Given the description of an element on the screen output the (x, y) to click on. 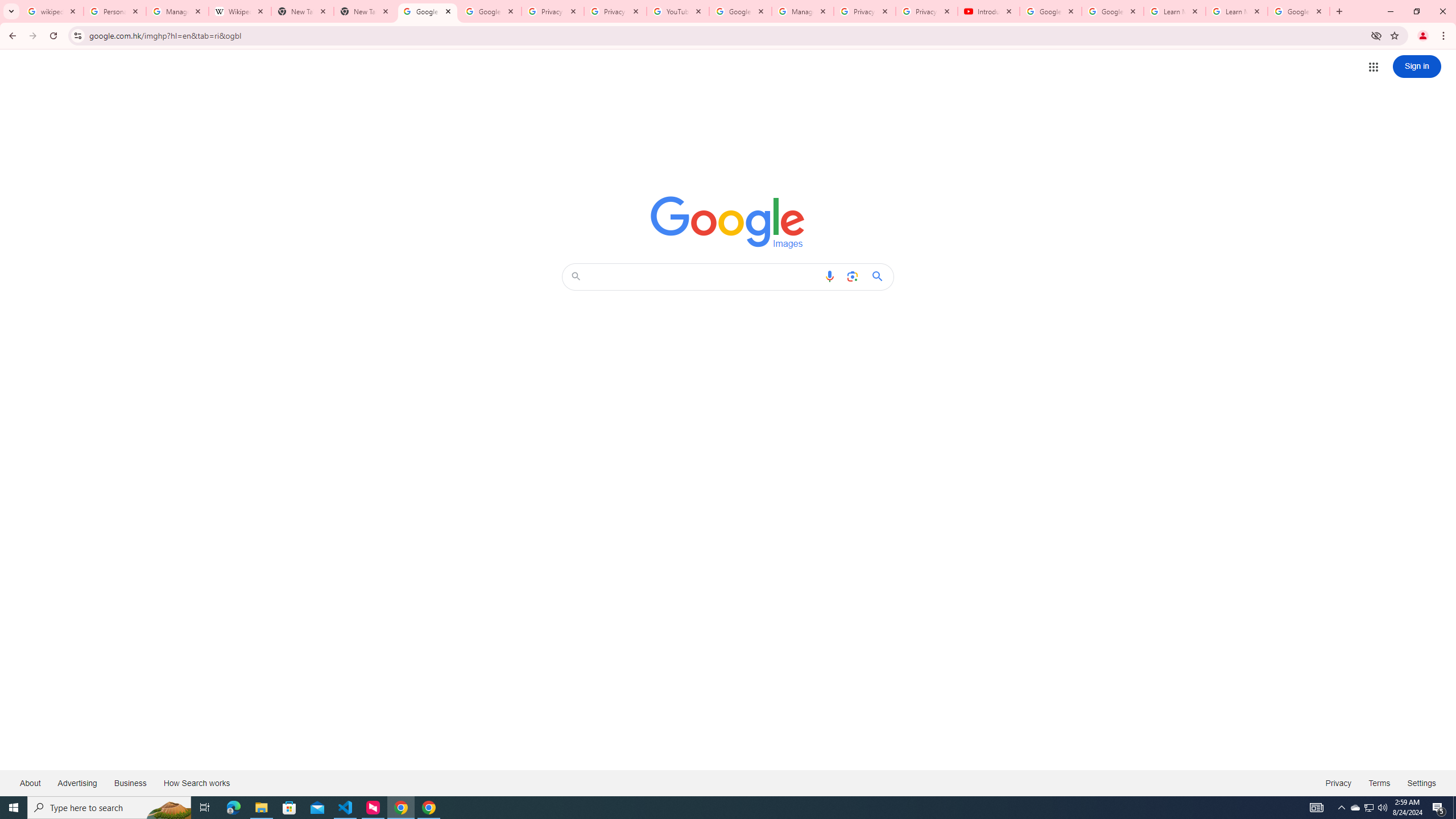
Search by image (852, 276)
YouTube (678, 11)
Search by voice (829, 276)
Forward (32, 35)
Google apps (1373, 66)
Google Account (1298, 11)
